Given the description of an element on the screen output the (x, y) to click on. 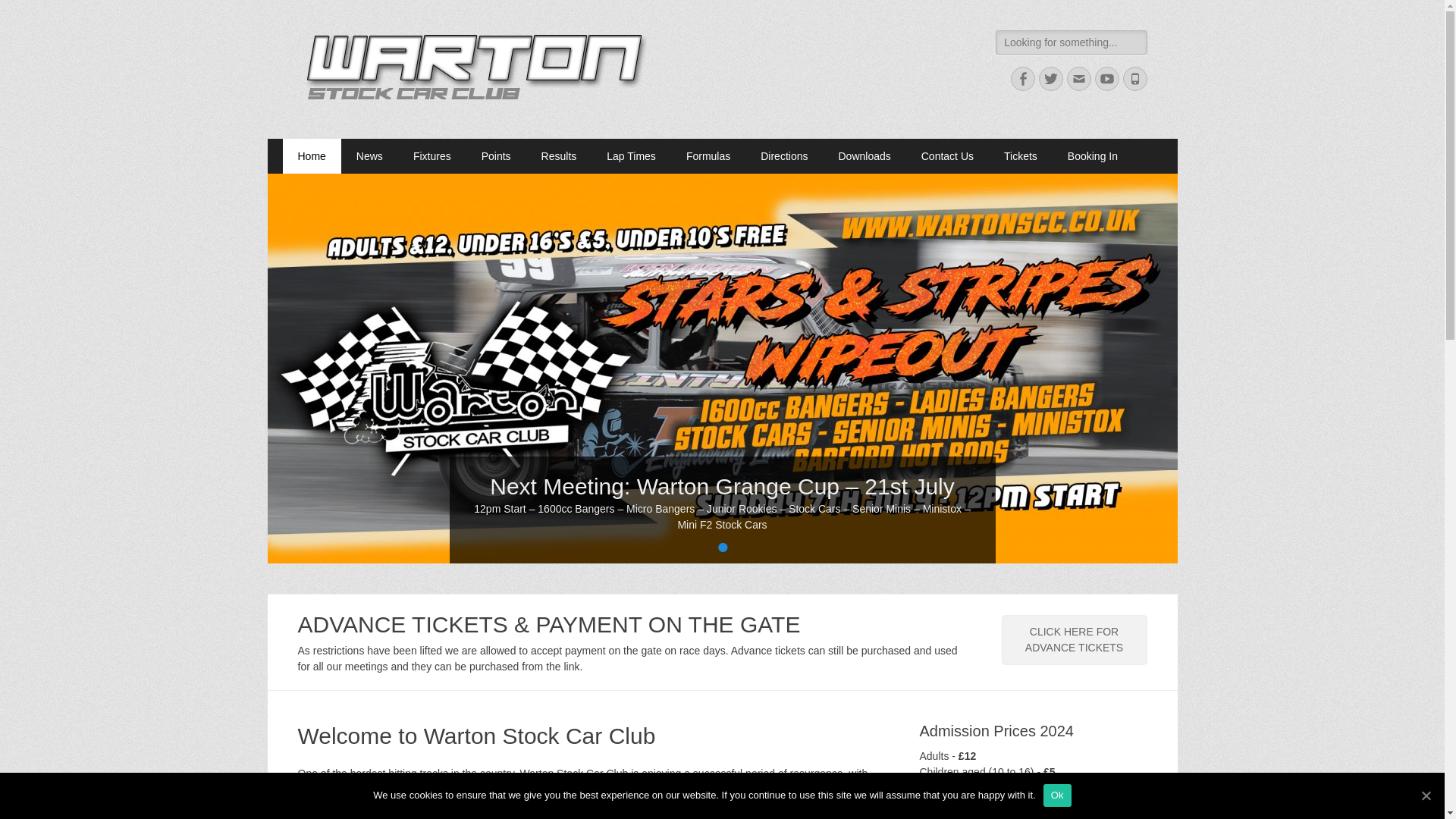
News (368, 155)
Twitter (1050, 78)
Search for: (1071, 42)
Formulas (708, 155)
Phone (1134, 78)
Email (1077, 78)
Lap Times (631, 155)
YouTube (1106, 78)
Facebook (1021, 78)
Warton Stock Car Club (453, 48)
YouTube (1106, 78)
Phone (1134, 78)
Fixtures (431, 155)
Points (495, 155)
Directions (783, 155)
